Given the description of an element on the screen output the (x, y) to click on. 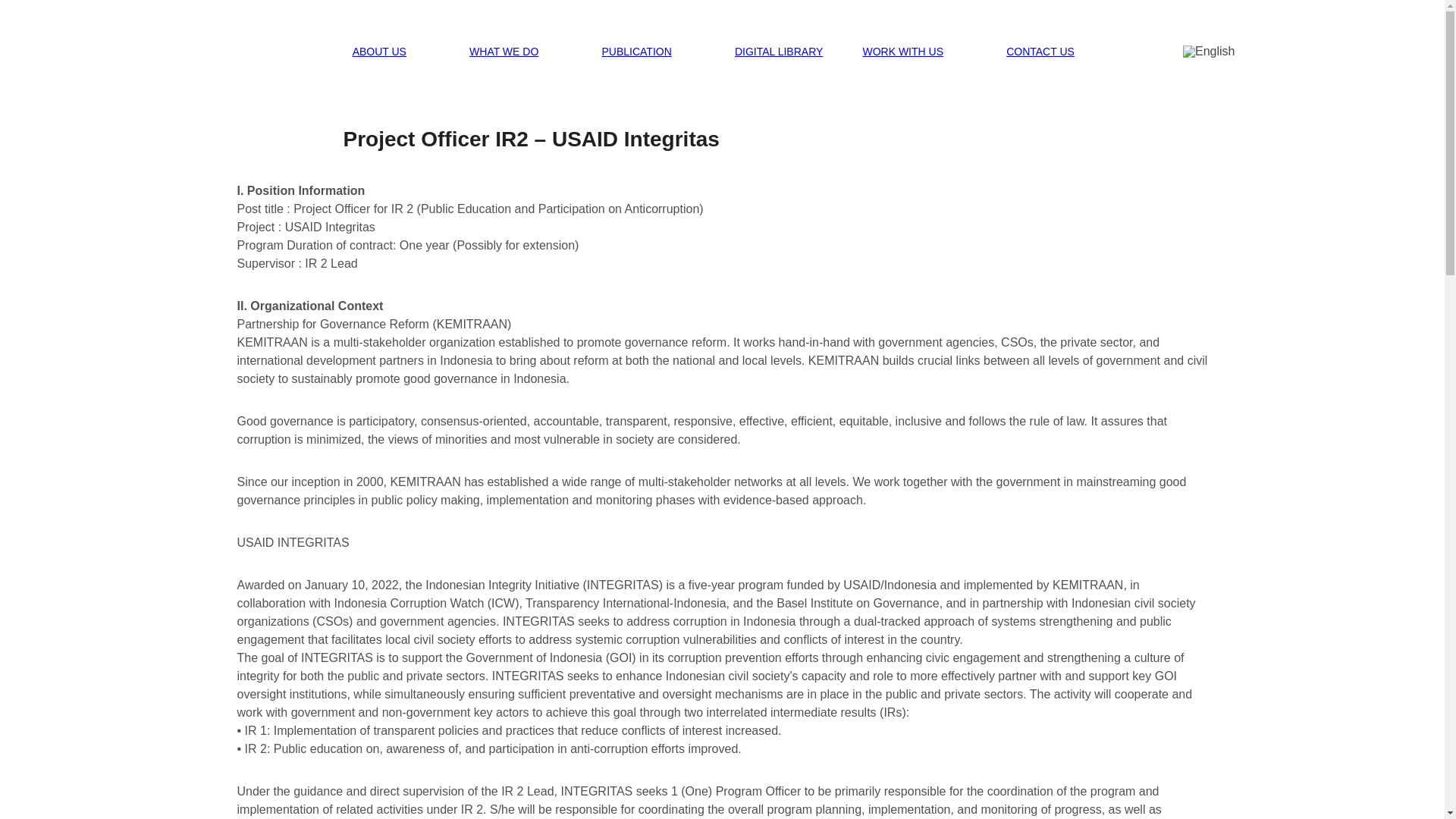
WHAT WE DO (515, 51)
ABOUT US (390, 51)
DIGITAL LIBRARY (778, 51)
PUBLICATION (647, 51)
WORK WITH US (913, 51)
CONTACT US (1051, 51)
